Given the description of an element on the screen output the (x, y) to click on. 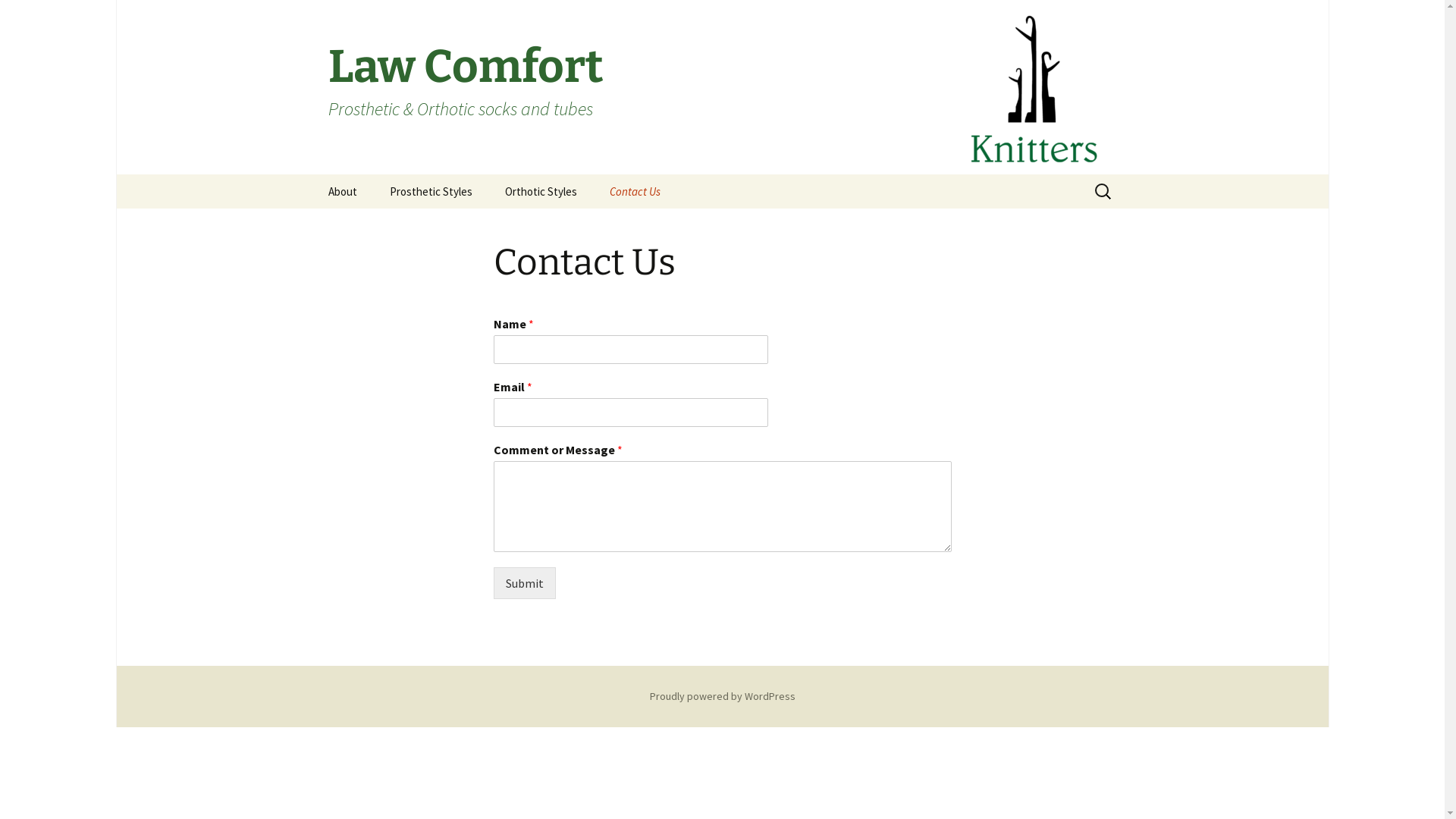
Law Comfort
Prosthetic & Orthotic socks and tubes Element type: text (721, 87)
Proudly powered by WordPress Element type: text (721, 695)
About Element type: text (341, 191)
Limb Socks Style 26 Element type: text (450, 225)
Orthotic Tubes and Socks Element type: text (565, 231)
Skip to content Element type: text (312, 173)
Contact Us Element type: text (634, 191)
Orthotic Styles Element type: text (540, 191)
Search Element type: text (18, 16)
Submit Element type: text (523, 583)
Prosthetic Styles Element type: text (430, 191)
